Given the description of an element on the screen output the (x, y) to click on. 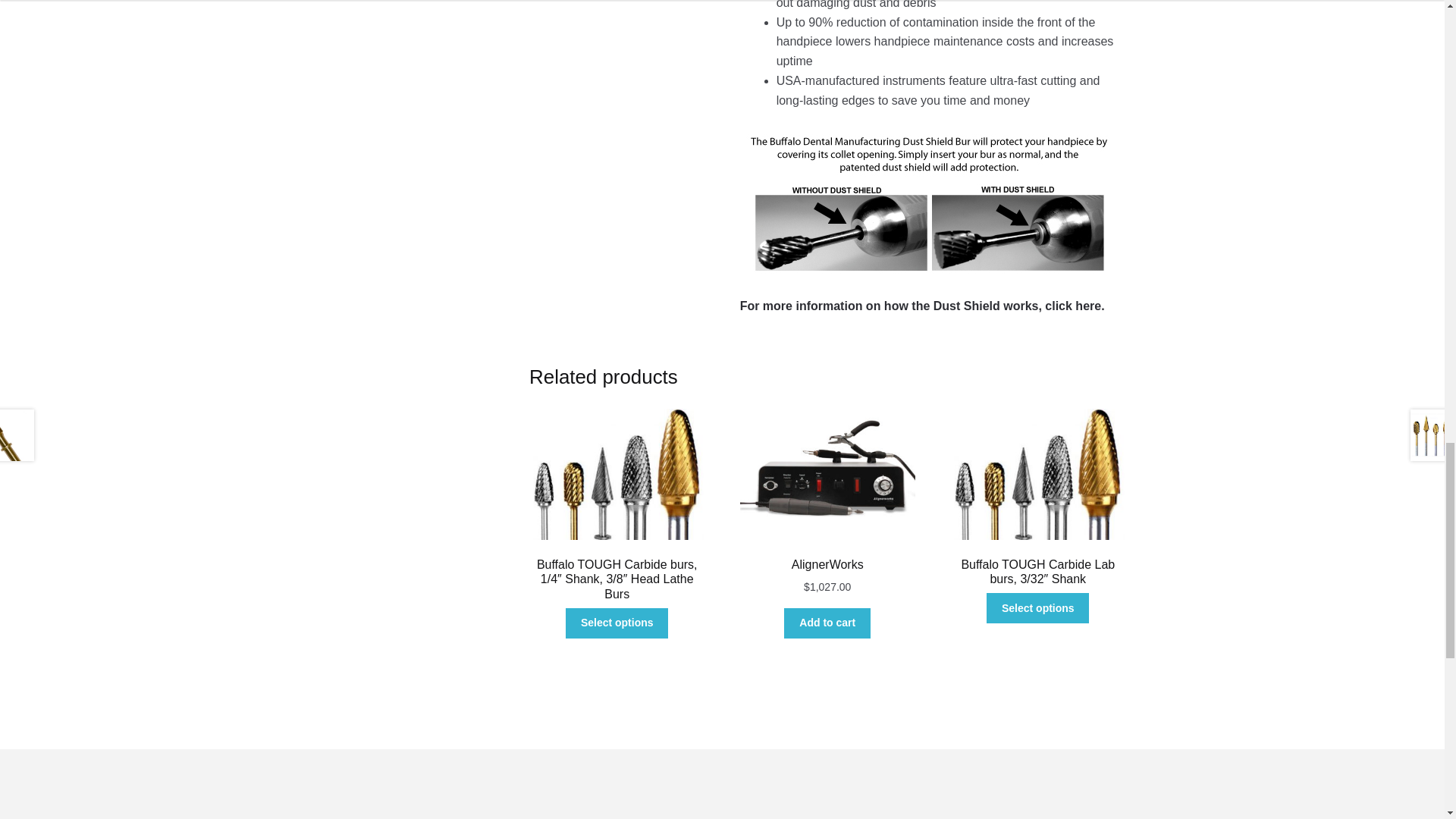
Select options (1038, 607)
Select options (617, 623)
Add to cart (827, 623)
